Given the description of an element on the screen output the (x, y) to click on. 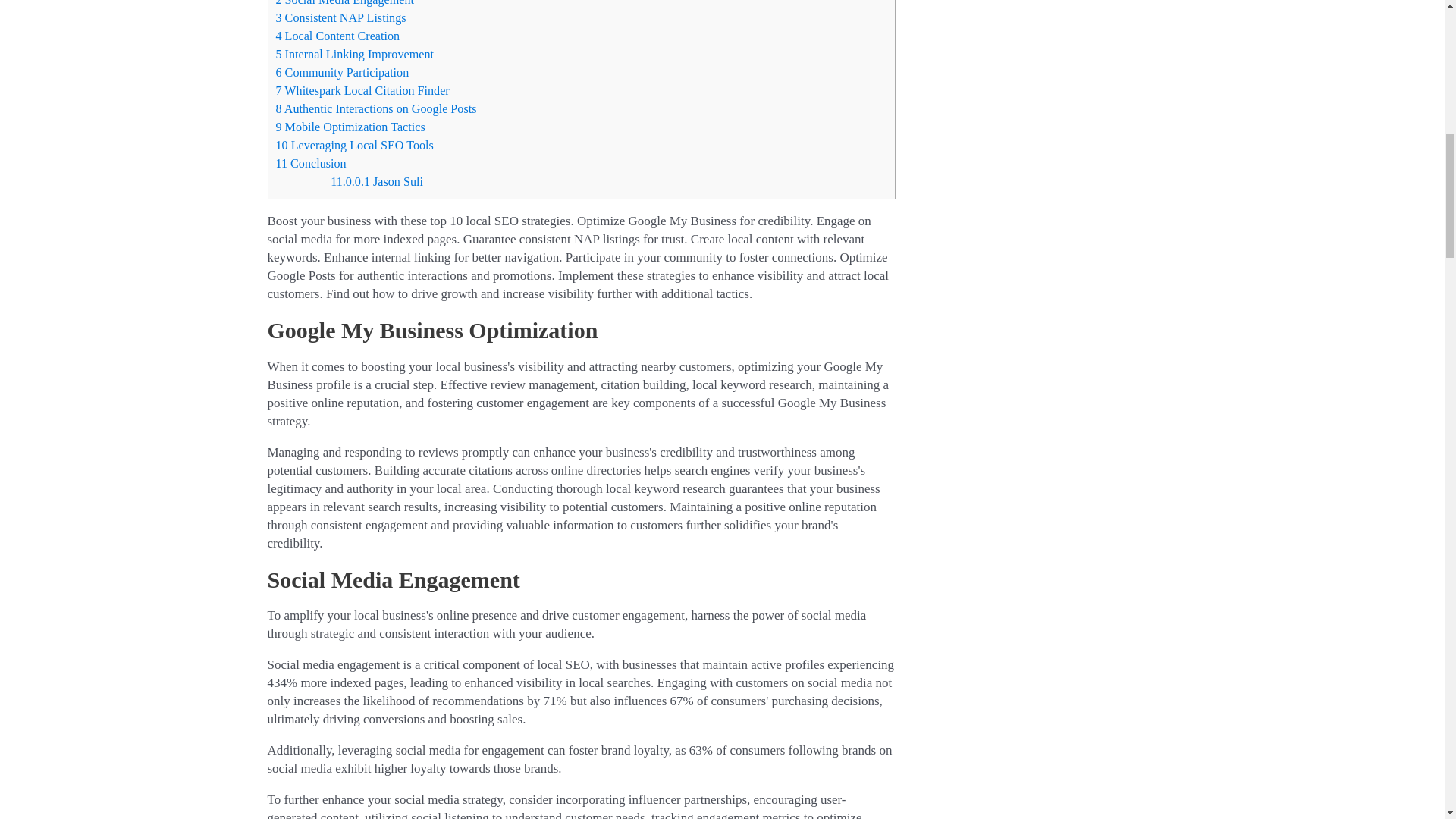
3 Consistent NAP Listings (341, 17)
7 Whitespark Local Citation Finder (362, 90)
4 Local Content Creation (338, 35)
8 Authentic Interactions on Google Posts (376, 108)
5 Internal Linking Improvement (354, 53)
2 Social Media Engagement (344, 2)
9 Mobile Optimization Tactics (350, 126)
11 Conclusion (311, 163)
11.0.0.1 Jason Suli (376, 181)
6 Community Participation (342, 72)
10 Leveraging Local SEO Tools (354, 144)
